Given the description of an element on the screen output the (x, y) to click on. 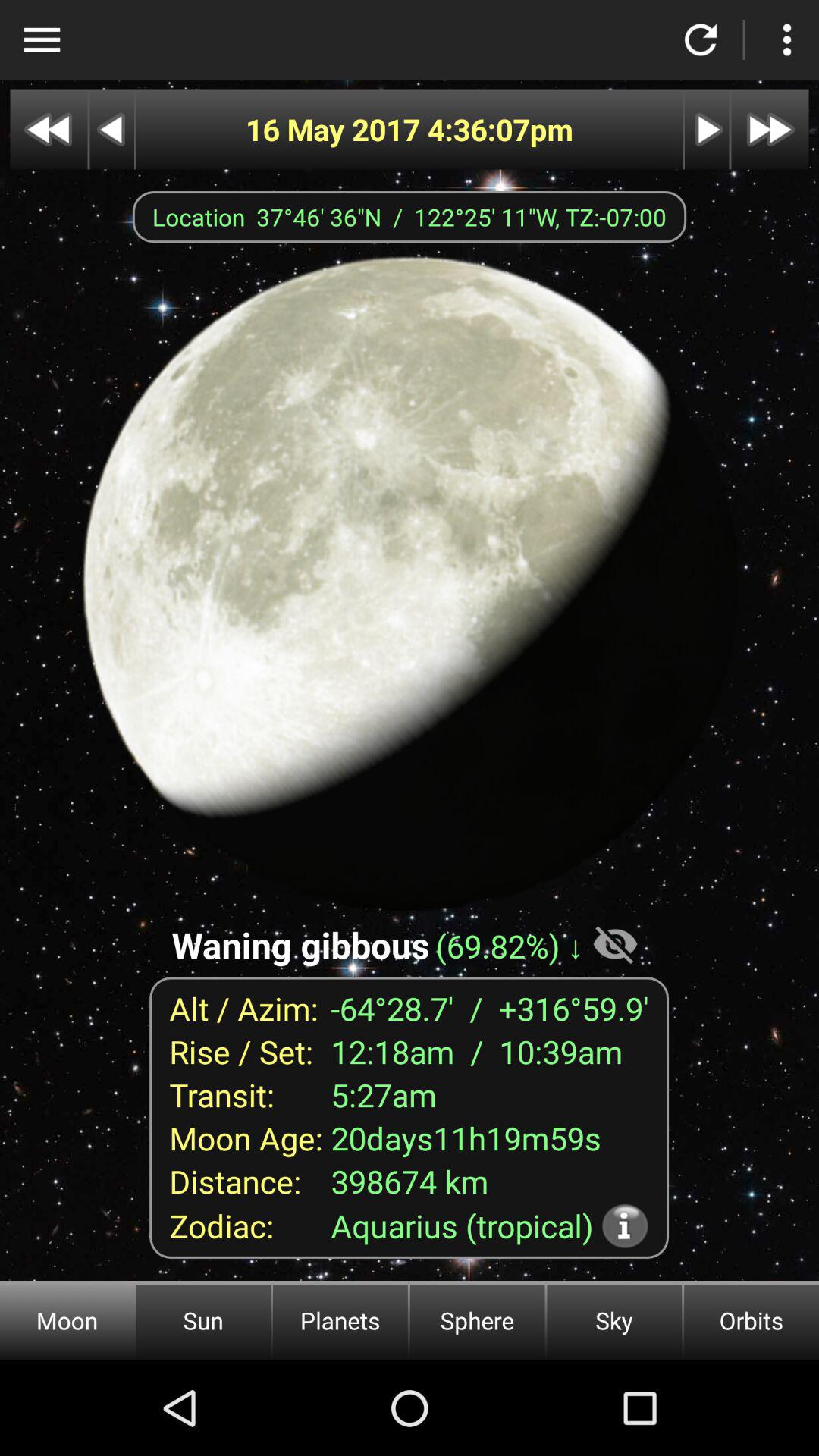
choose the app to the right of the aquarius (tropical) (624, 1225)
